Given the description of an element on the screen output the (x, y) to click on. 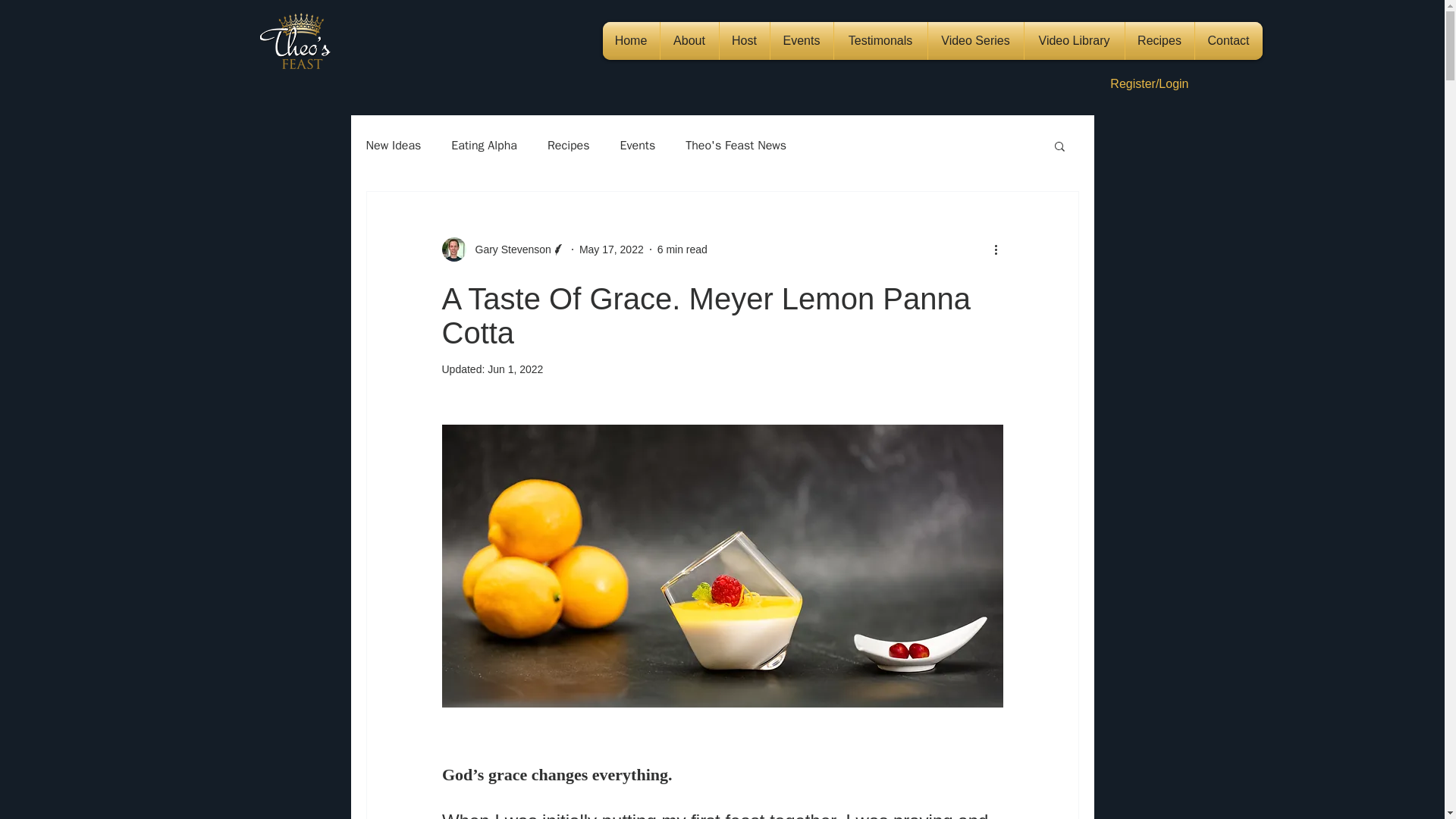
Recipes (568, 145)
Video Library (1073, 40)
May 17, 2022 (611, 248)
Contact (1228, 40)
Theo's Feast News (735, 145)
Home (630, 40)
Gary Stevenson (507, 248)
Video Series (975, 40)
6 min read (682, 248)
Eating Alpha (483, 145)
Host (743, 40)
Events (801, 40)
New Ideas (392, 145)
About (688, 40)
Jun 1, 2022 (515, 369)
